Given the description of an element on the screen output the (x, y) to click on. 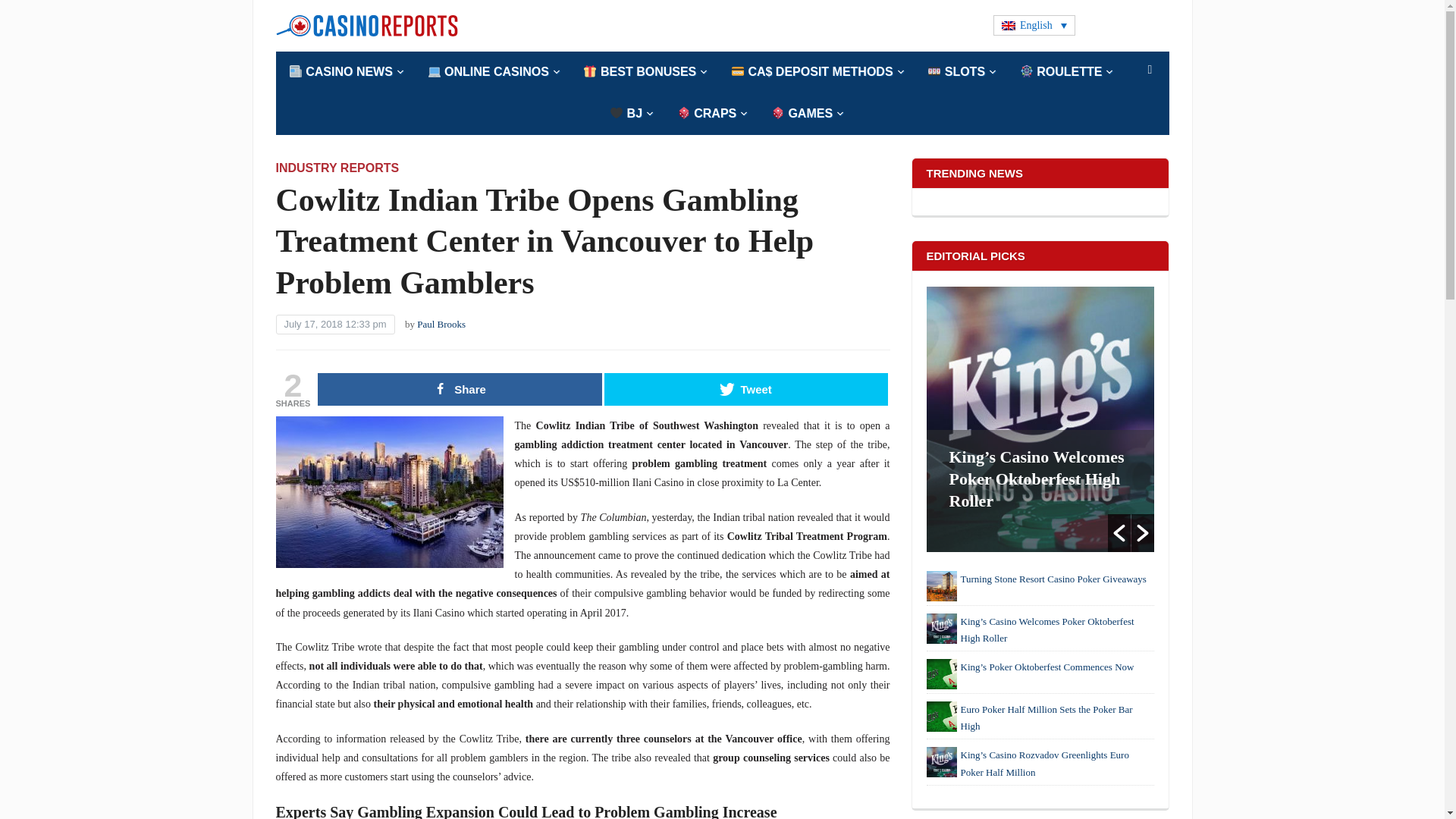
Turning Stone Resort Casino Poker Giveaways (941, 585)
Euro Poker Half Million Sets the Poker Bar High (941, 716)
